Given the description of an element on the screen output the (x, y) to click on. 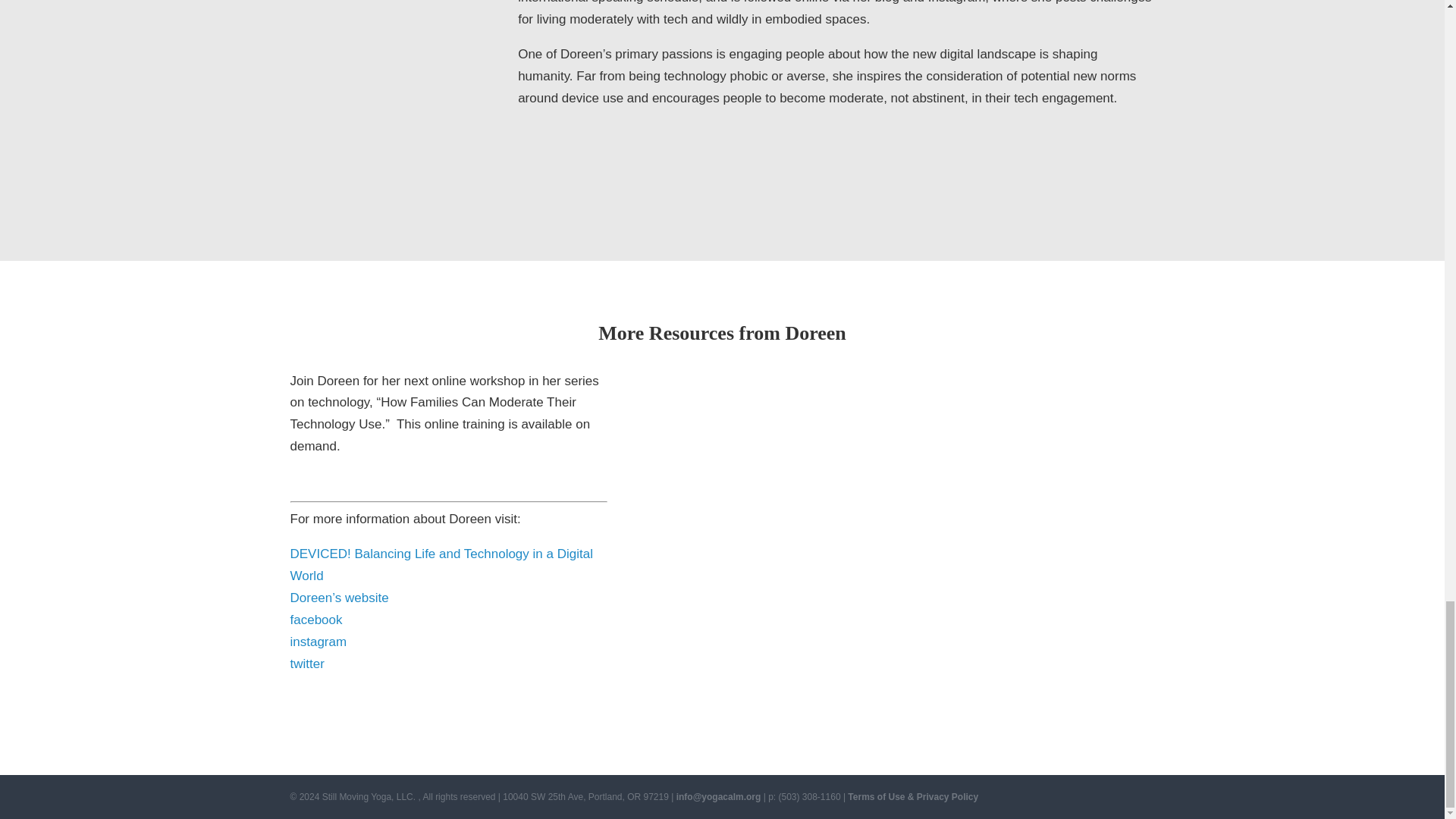
facebook (315, 619)
twitter (306, 663)
DEVICED! Balancing Life and Technology in a Digital World (440, 565)
instagram (317, 641)
